Given the description of an element on the screen output the (x, y) to click on. 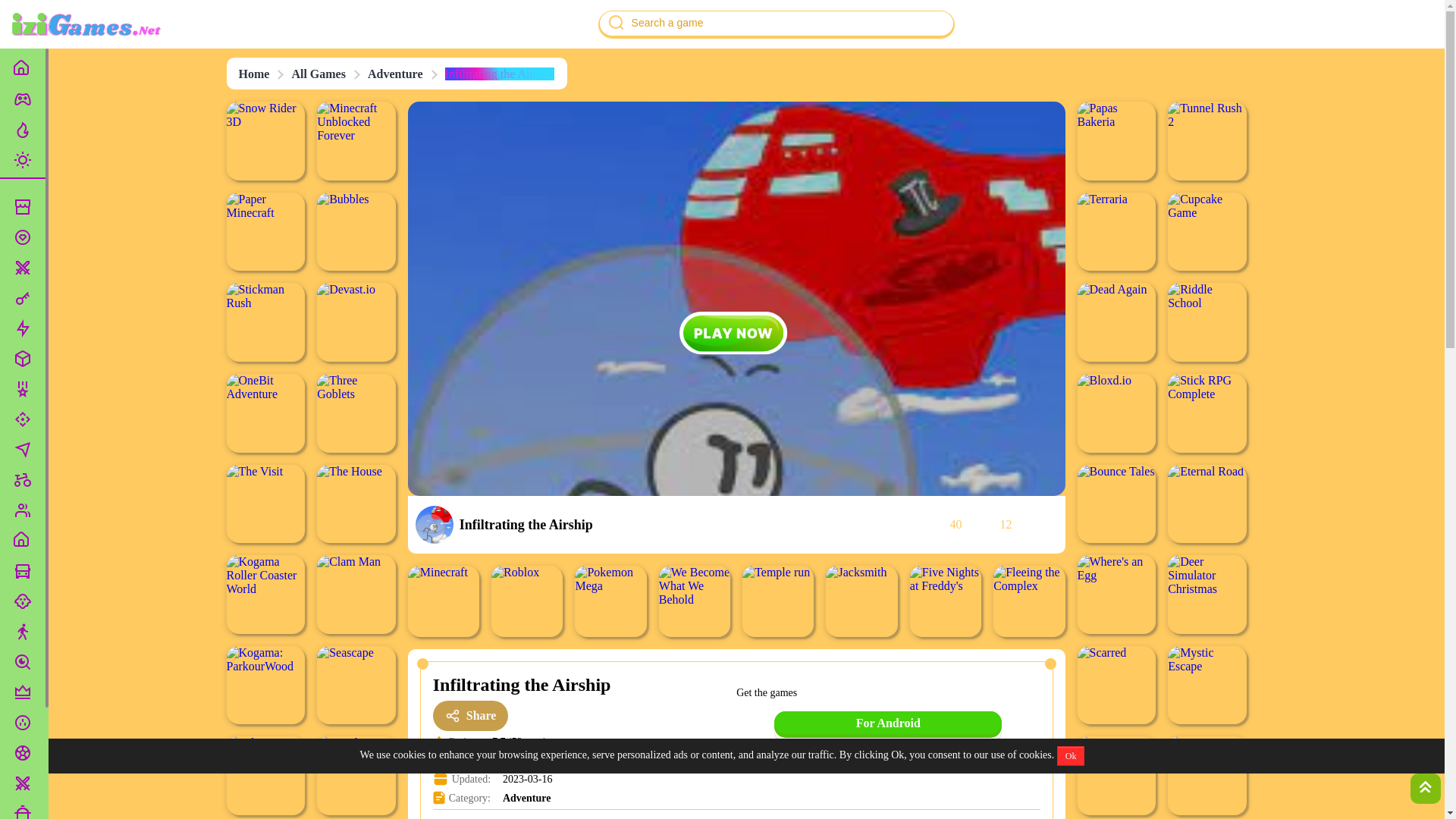
40 (943, 524)
Adventure (395, 73)
12 (994, 524)
All Games (318, 73)
Home (253, 73)
